Given the description of an element on the screen output the (x, y) to click on. 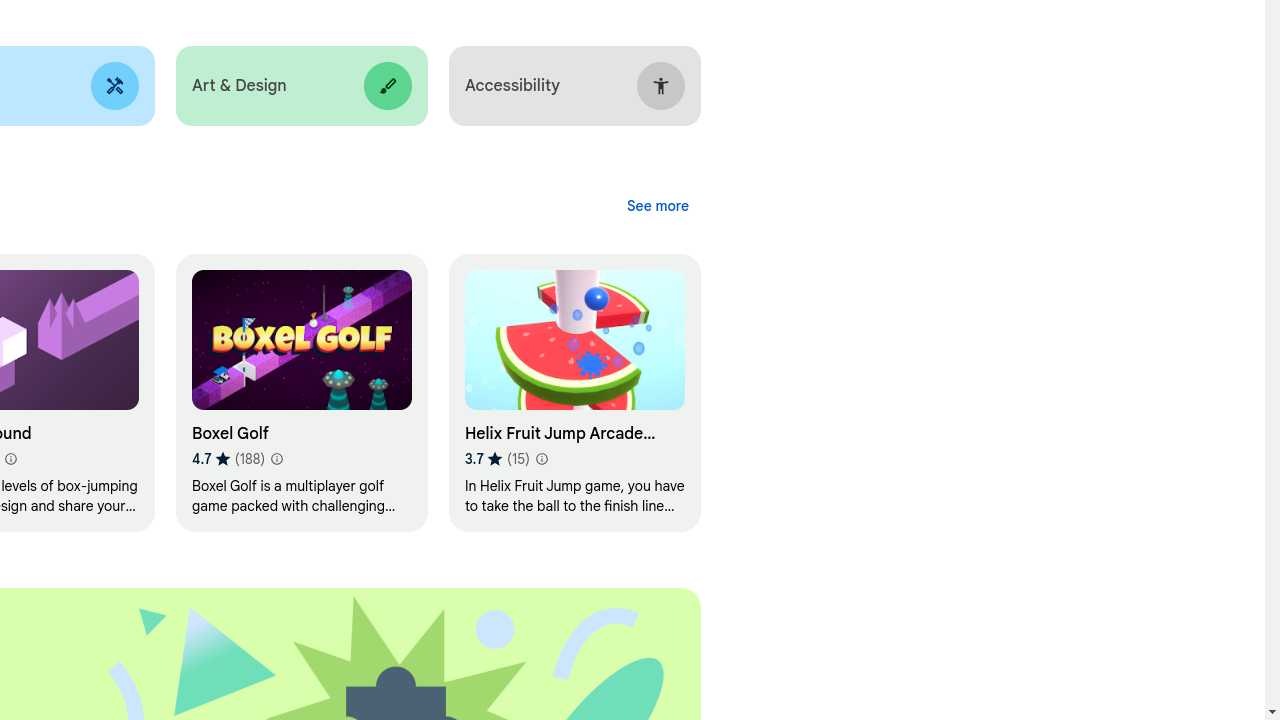
Learn more about results and reviews "Boxel Rebound" Element type: push-button (10, 459)
Learn more about results and reviews "Helix Fruit Jump Arcade Game" Element type: push-button (541, 459)
Boxel Golf Element type: link (301, 393)
Learn more about results and reviews "Boxel Golf" Element type: push-button (276, 459)
See more personalized recommendations Element type: link (657, 206)
